Given the description of an element on the screen output the (x, y) to click on. 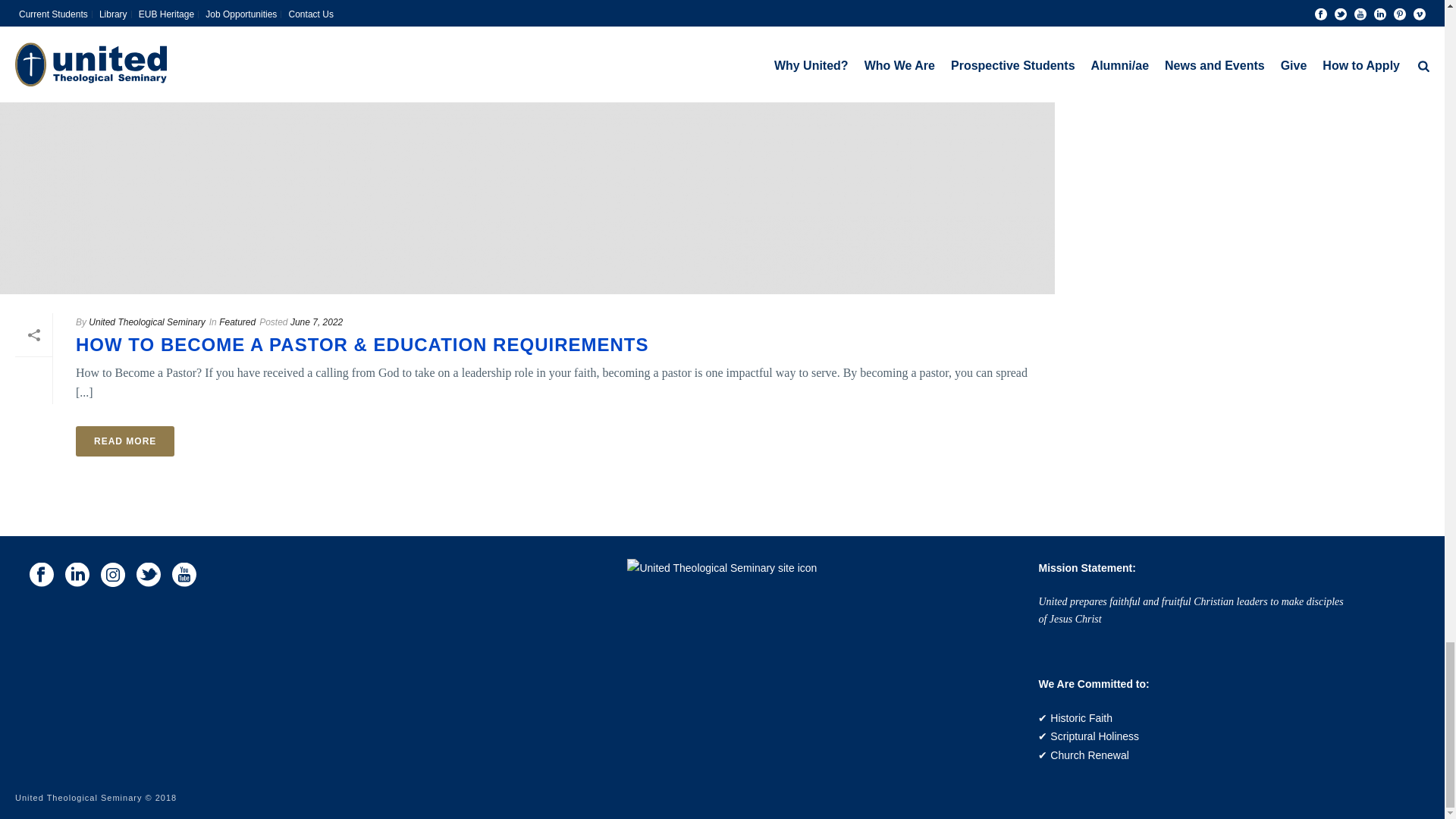
READ MORE (124, 440)
